Given the description of an element on the screen output the (x, y) to click on. 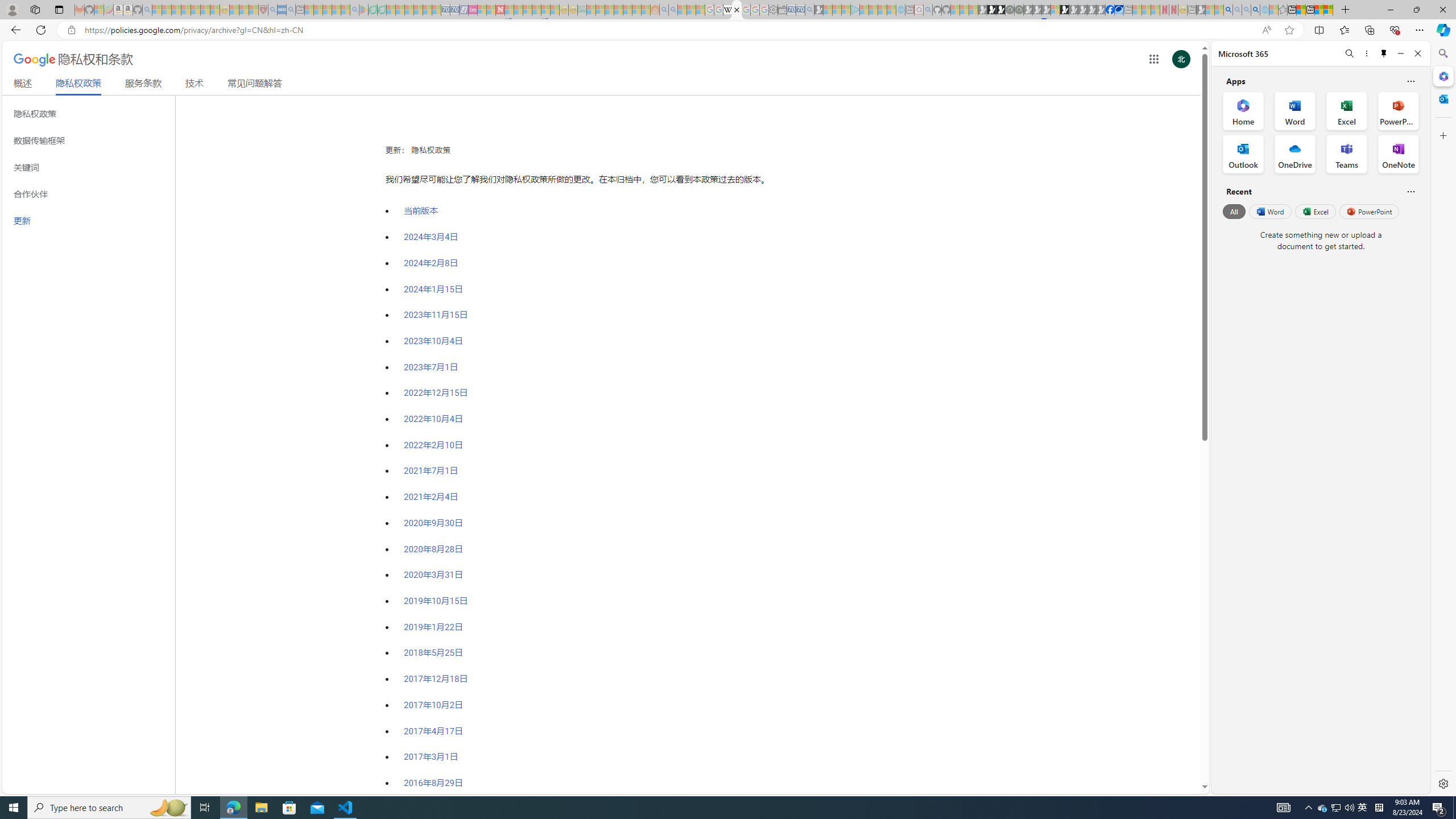
MSNBC - MSN - Sleeping (590, 9)
Wallet - Sleeping (782, 9)
New tab - Sleeping (1191, 9)
Terms of Use Agreement - Sleeping (372, 9)
Robert H. Shmerling, MD - Harvard Health - Sleeping (263, 9)
